Given the description of an element on the screen output the (x, y) to click on. 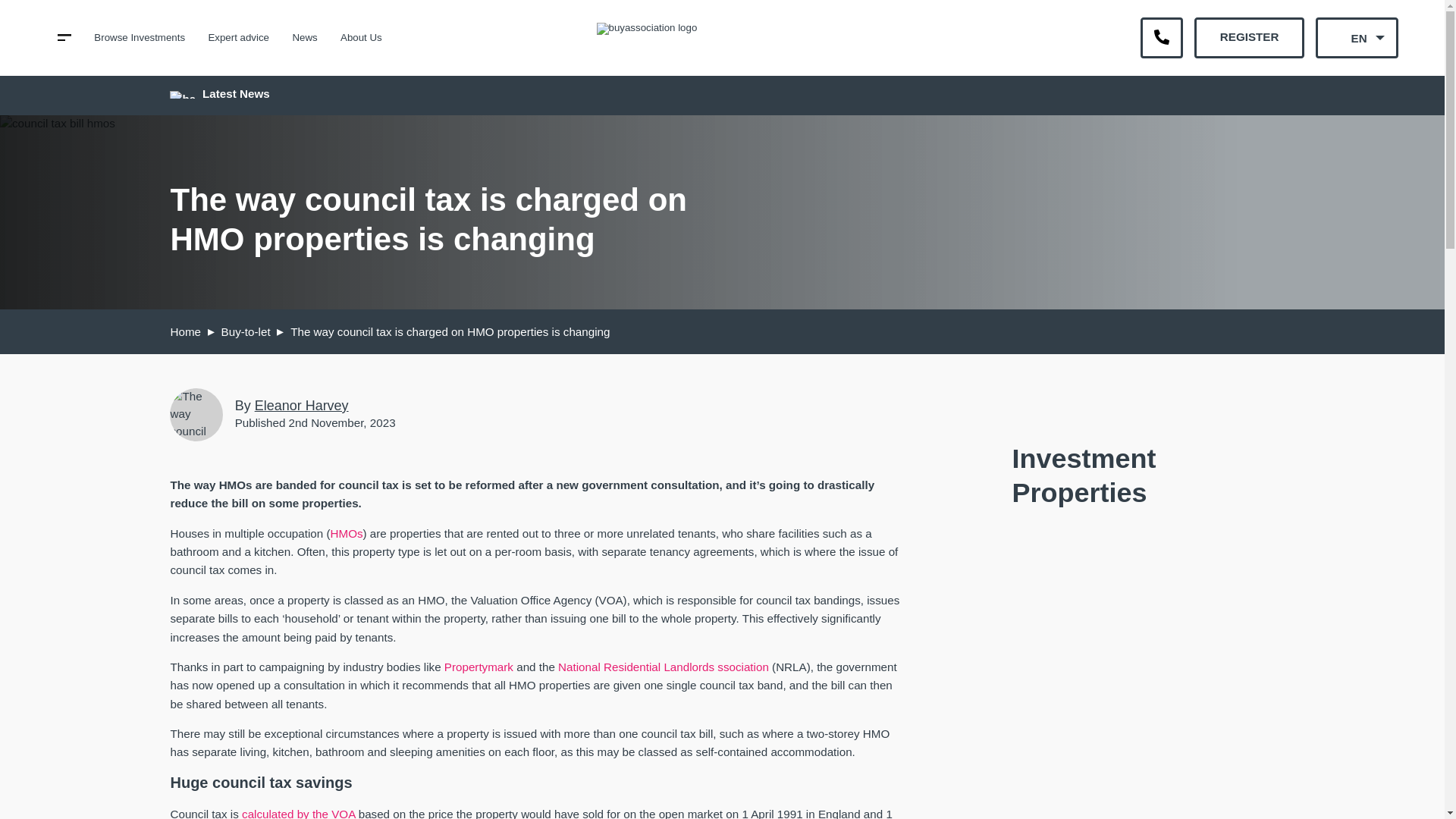
News (305, 38)
Expert advice (238, 38)
Home (185, 331)
HMOs (346, 533)
Browse Investments (139, 38)
EN (1356, 37)
Posts by Eleanor Harvey (301, 405)
calculated by the VOA (298, 813)
Buy-to-let (245, 331)
REGISTER (1248, 37)
